Given the description of an element on the screen output the (x, y) to click on. 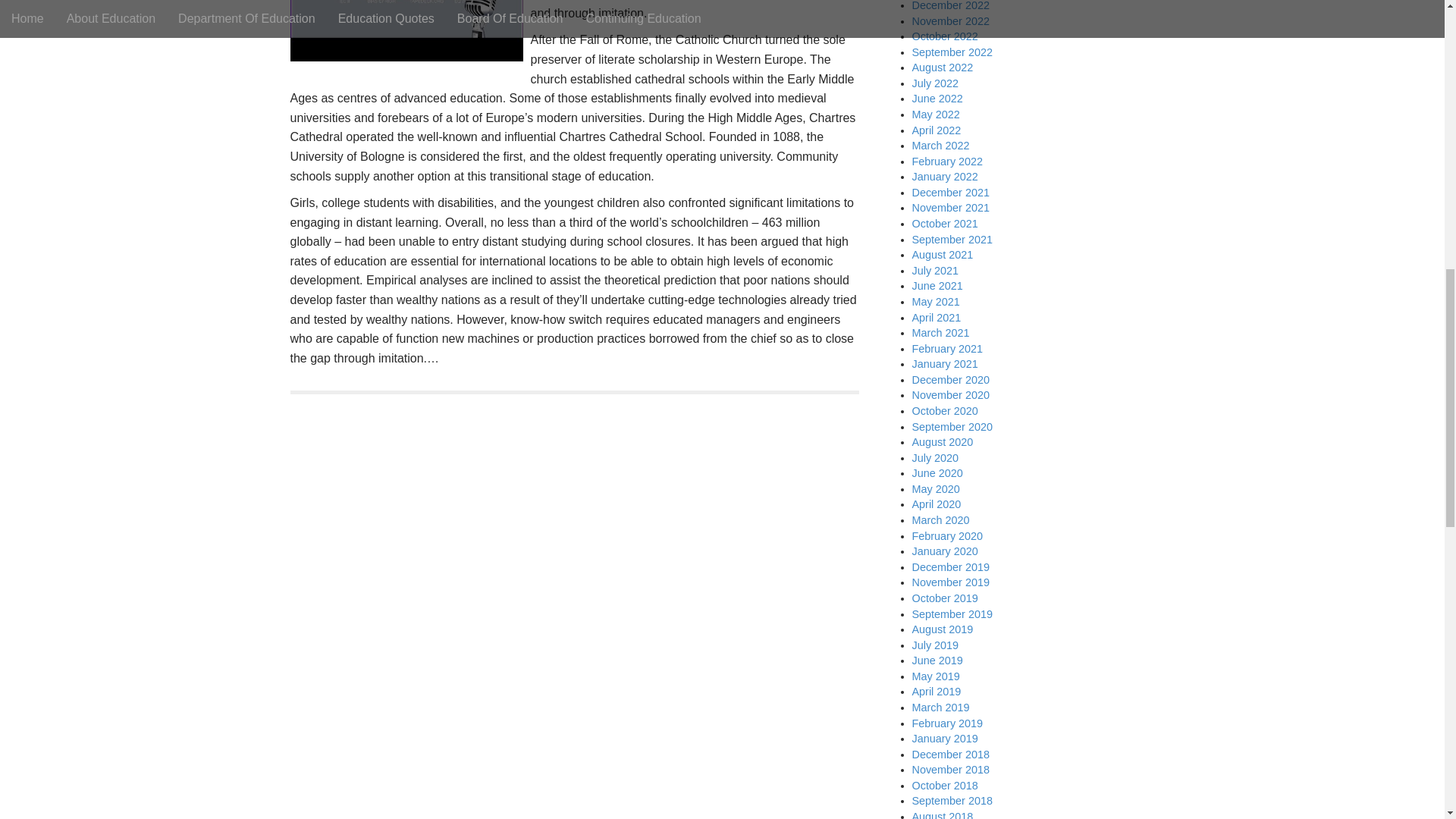
December 2022 (949, 5)
